Given the description of an element on the screen output the (x, y) to click on. 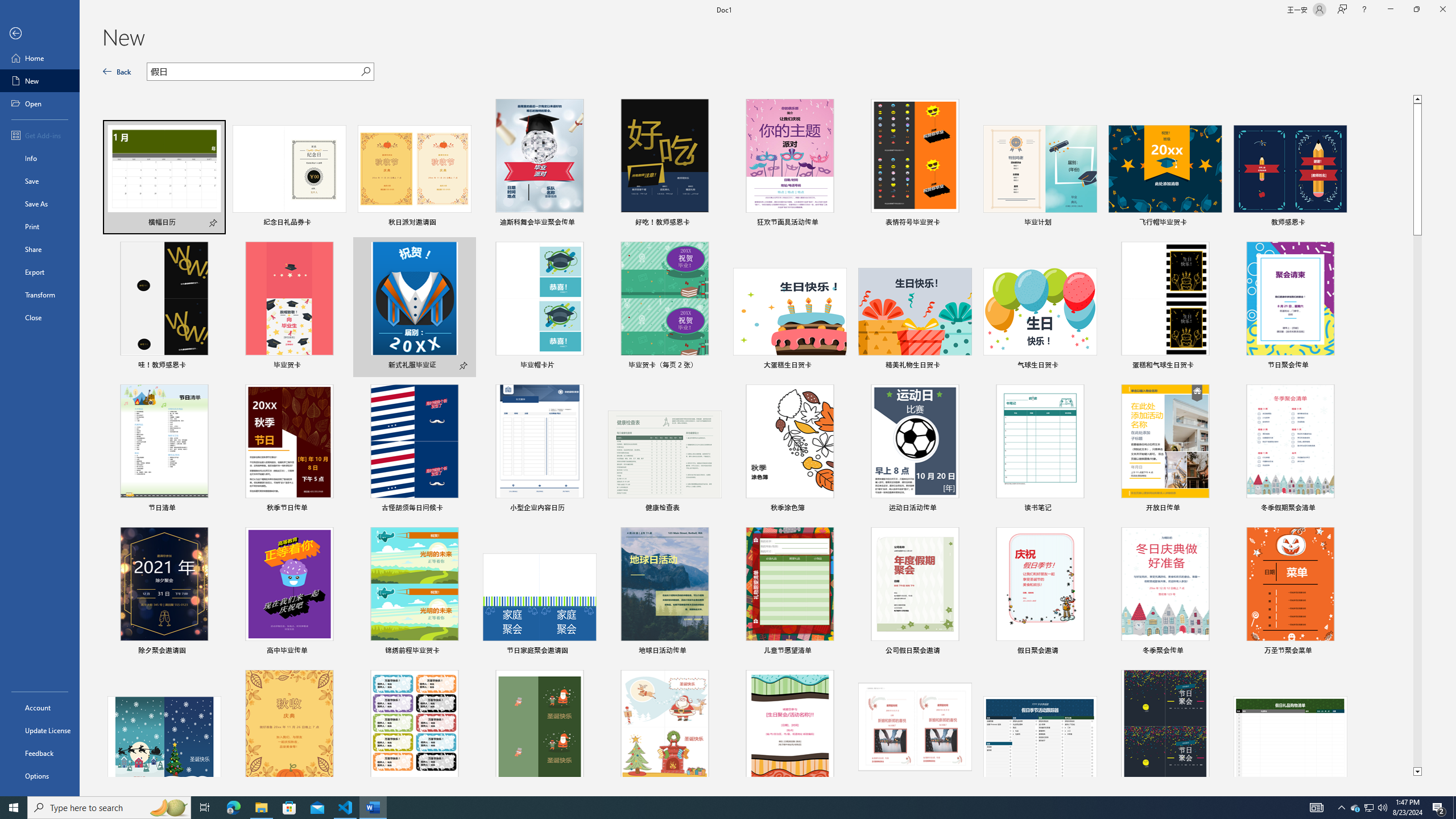
Feedback (40, 753)
Account (40, 707)
Back (117, 71)
New (40, 80)
